Given the description of an element on the screen output the (x, y) to click on. 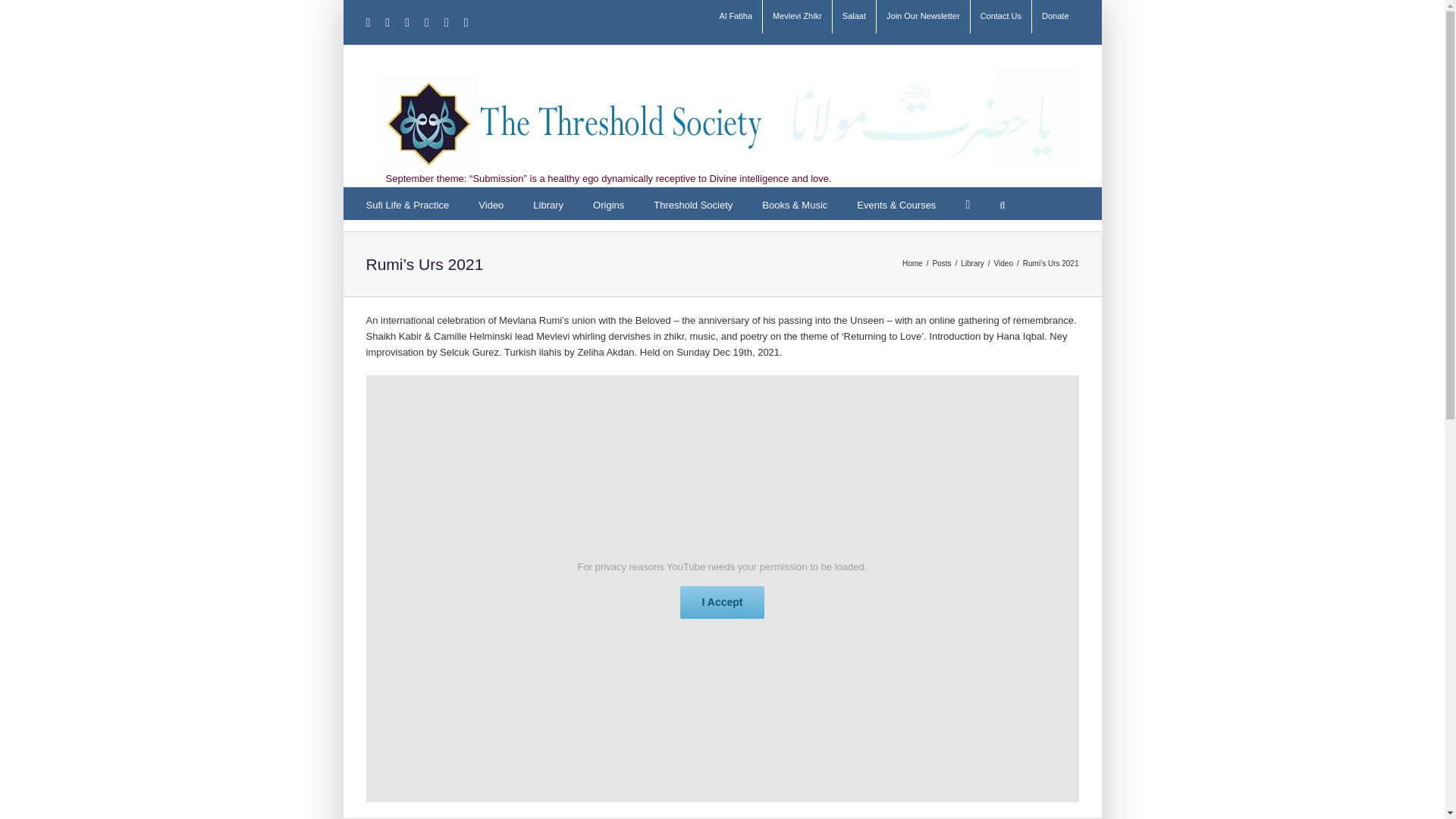
Al Fatiha (735, 16)
Origins (608, 203)
Donate (1055, 16)
Contact Us (1000, 16)
Library (547, 203)
Mevlevi Zhikr (796, 16)
Salaat (854, 16)
Join Our Newsletter (922, 16)
Threshold Society (692, 203)
